Given the description of an element on the screen output the (x, y) to click on. 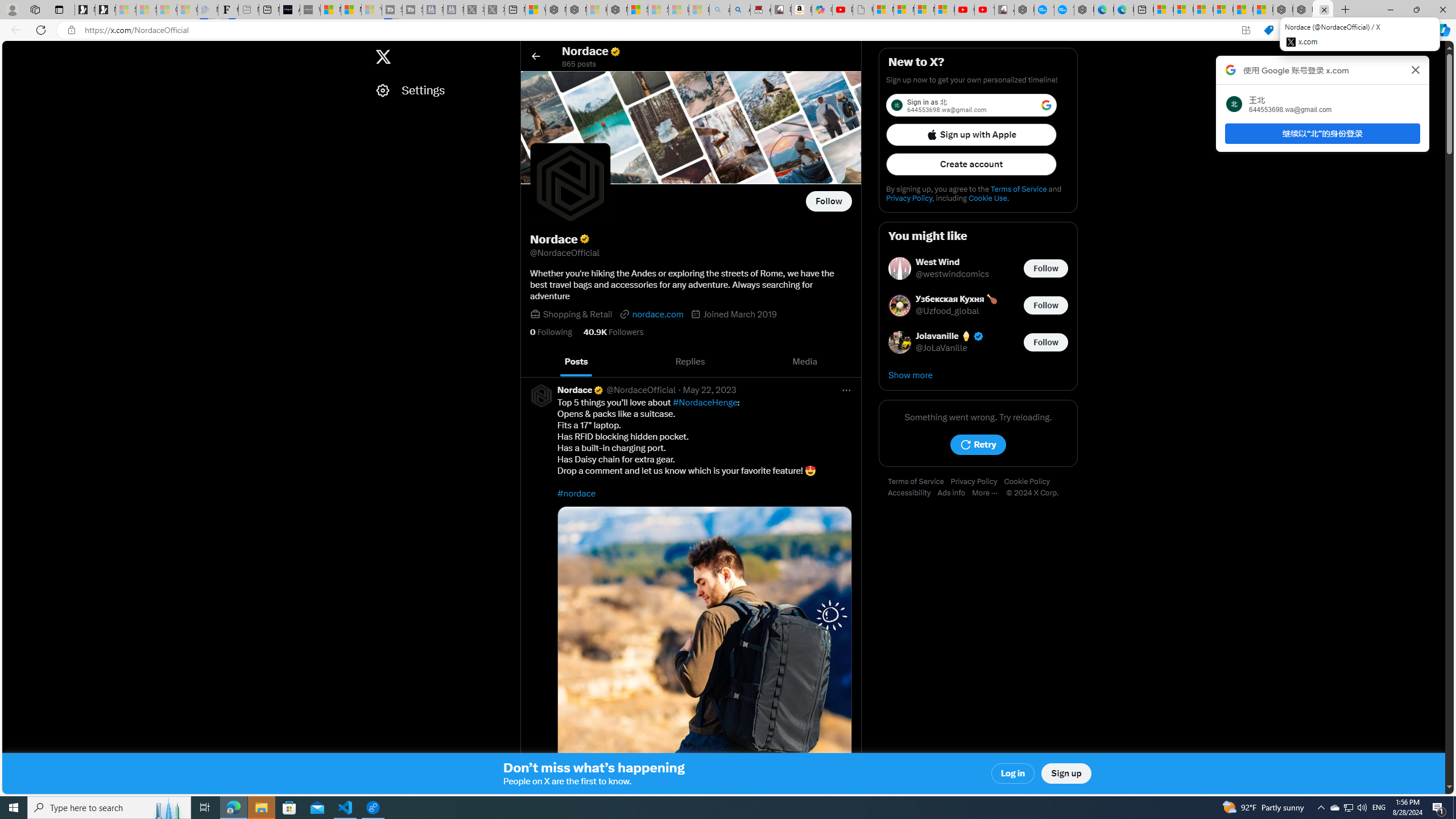
Square profile picture (540, 395)
Microsoft Start Sports (330, 9)
Create account (971, 164)
Skip to trending (12, 50)
Accessibility (912, 492)
Next (848, 361)
Nordace - Nordace has arrived Hong Kong (1083, 9)
0 Following (550, 331)
amazon - Search - Sleeping (719, 9)
